Given the description of an element on the screen output the (x, y) to click on. 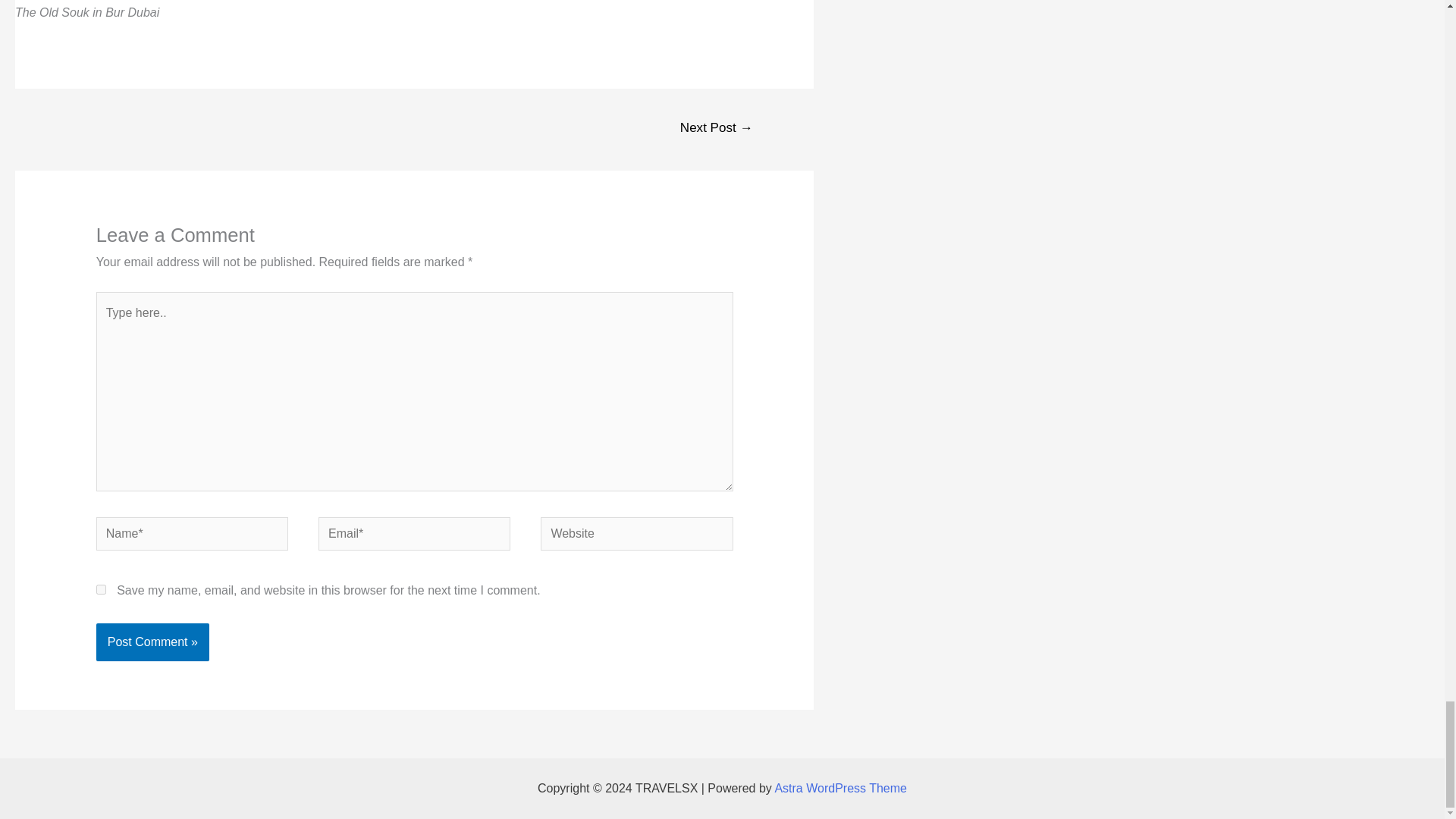
yes (101, 589)
